Given the description of an element on the screen output the (x, y) to click on. 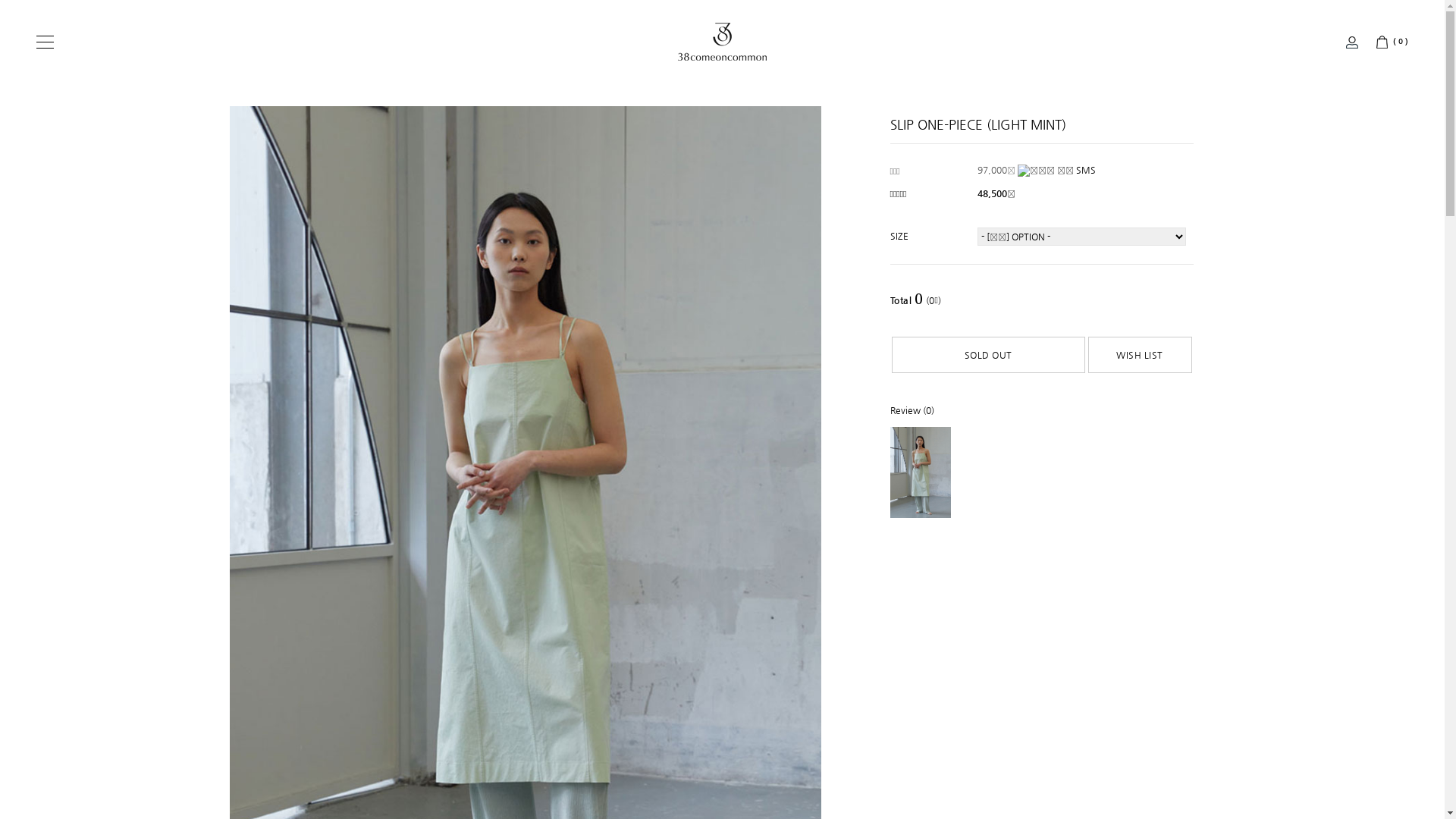
WISH LIST Element type: text (1140, 354)
Review (0) Element type: text (919, 409)
